Given the description of an element on the screen output the (x, y) to click on. 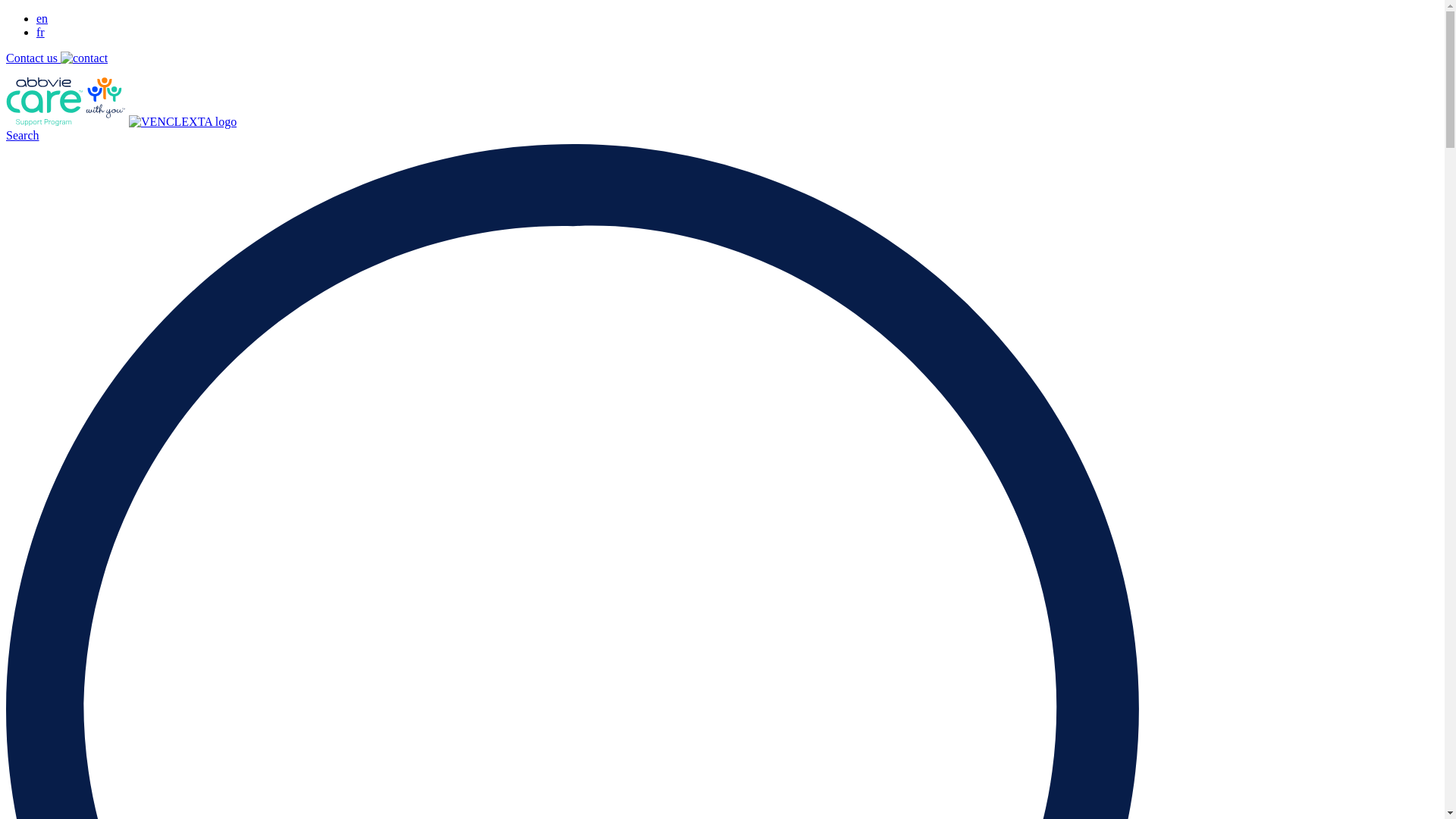
AbbVie Care Element type: hover (65, 121)
Contact us Element type: text (56, 57)
VENCLEXTA- Login Element type: hover (182, 121)
Skip to main content Element type: text (6, 12)
en Element type: text (41, 18)
fr Element type: text (40, 31)
